Given the description of an element on the screen output the (x, y) to click on. 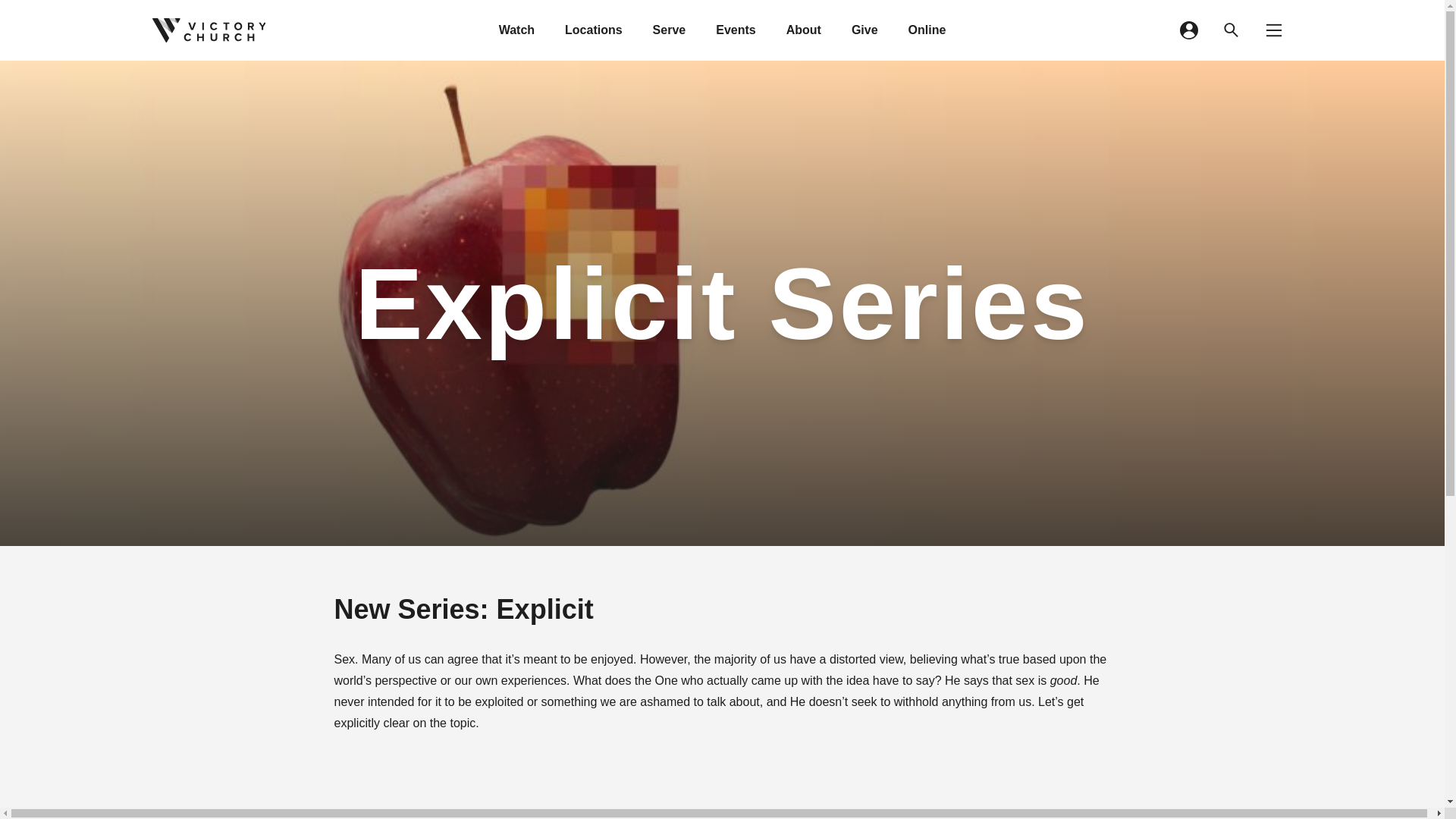
Locations (593, 30)
Explicit Bumper (721, 784)
Watch (516, 30)
Events (735, 30)
About (803, 30)
Serve (669, 30)
Give (864, 30)
Online (927, 30)
